Given the description of an element on the screen output the (x, y) to click on. 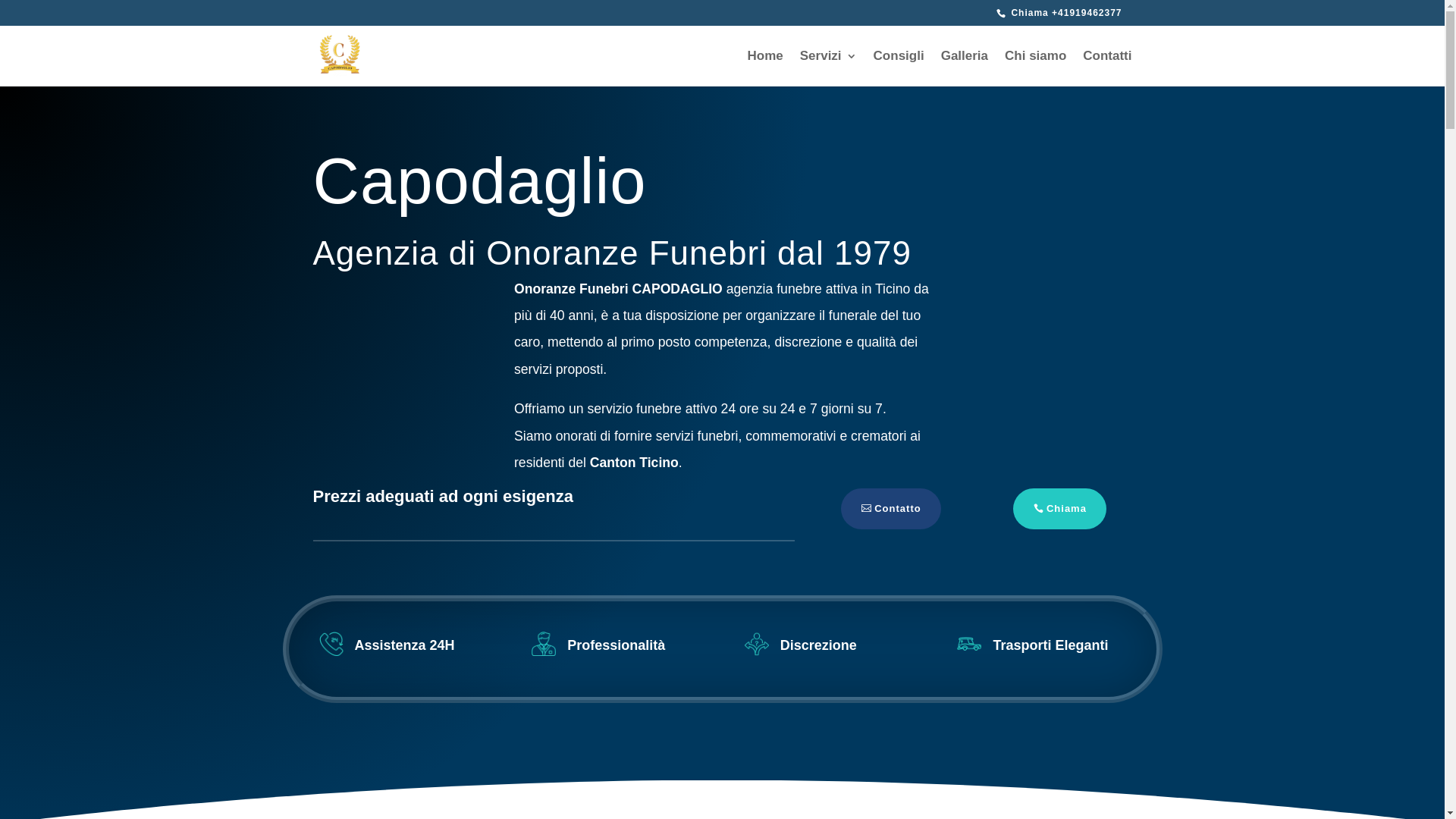
Chiama Element type: text (1059, 508)
Chiama +41919462377 Element type: text (1064, 12)
Chi siamo Element type: text (1035, 68)
Consigli Element type: text (898, 68)
Servizi Element type: text (828, 68)
Galleria Element type: text (964, 68)
Home Element type: text (765, 68)
Contatti Element type: text (1106, 68)
Contatto Element type: text (890, 508)
